Given the description of an element on the screen output the (x, y) to click on. 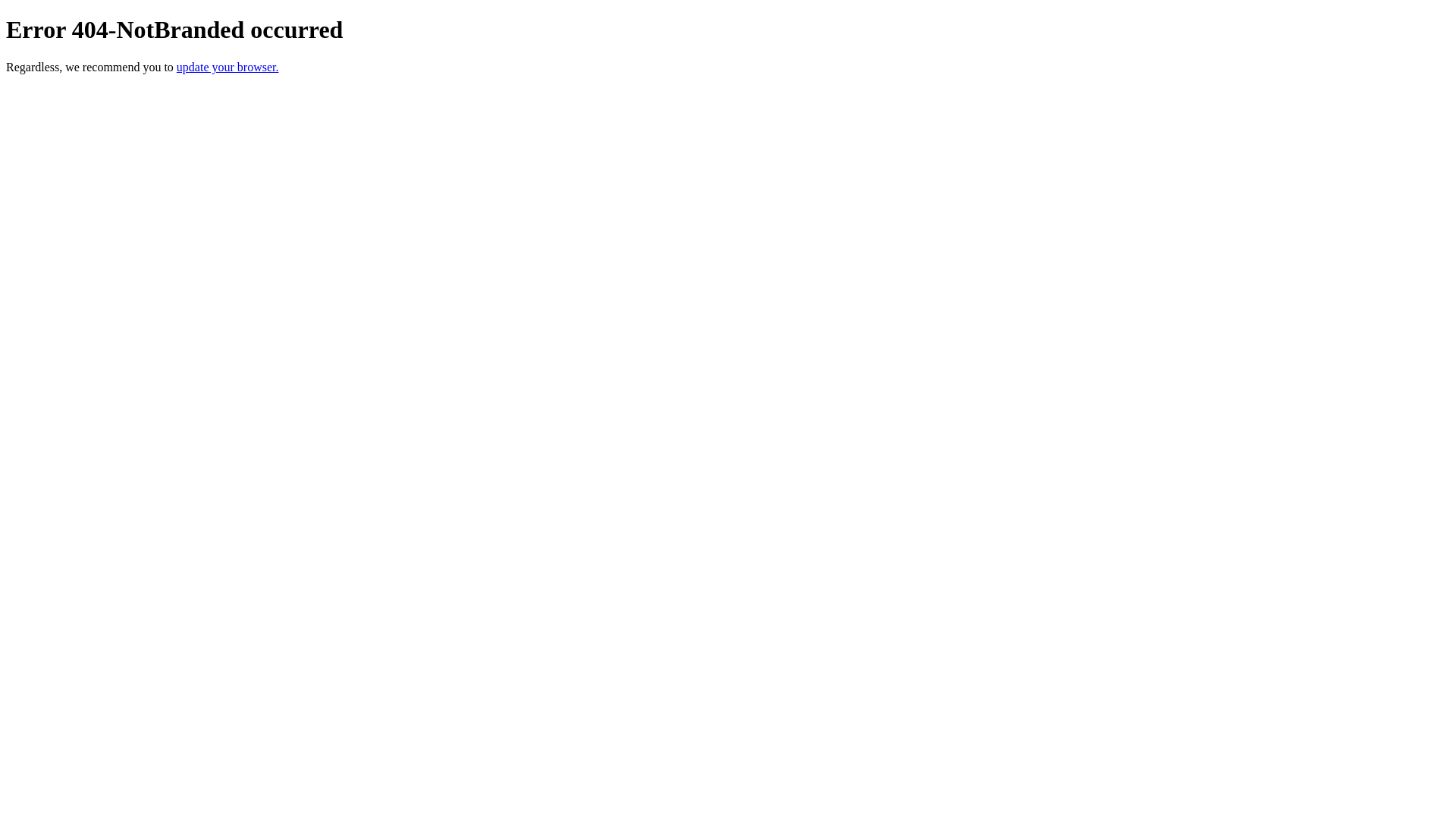
update your browser. Element type: text (227, 66)
